Given the description of an element on the screen output the (x, y) to click on. 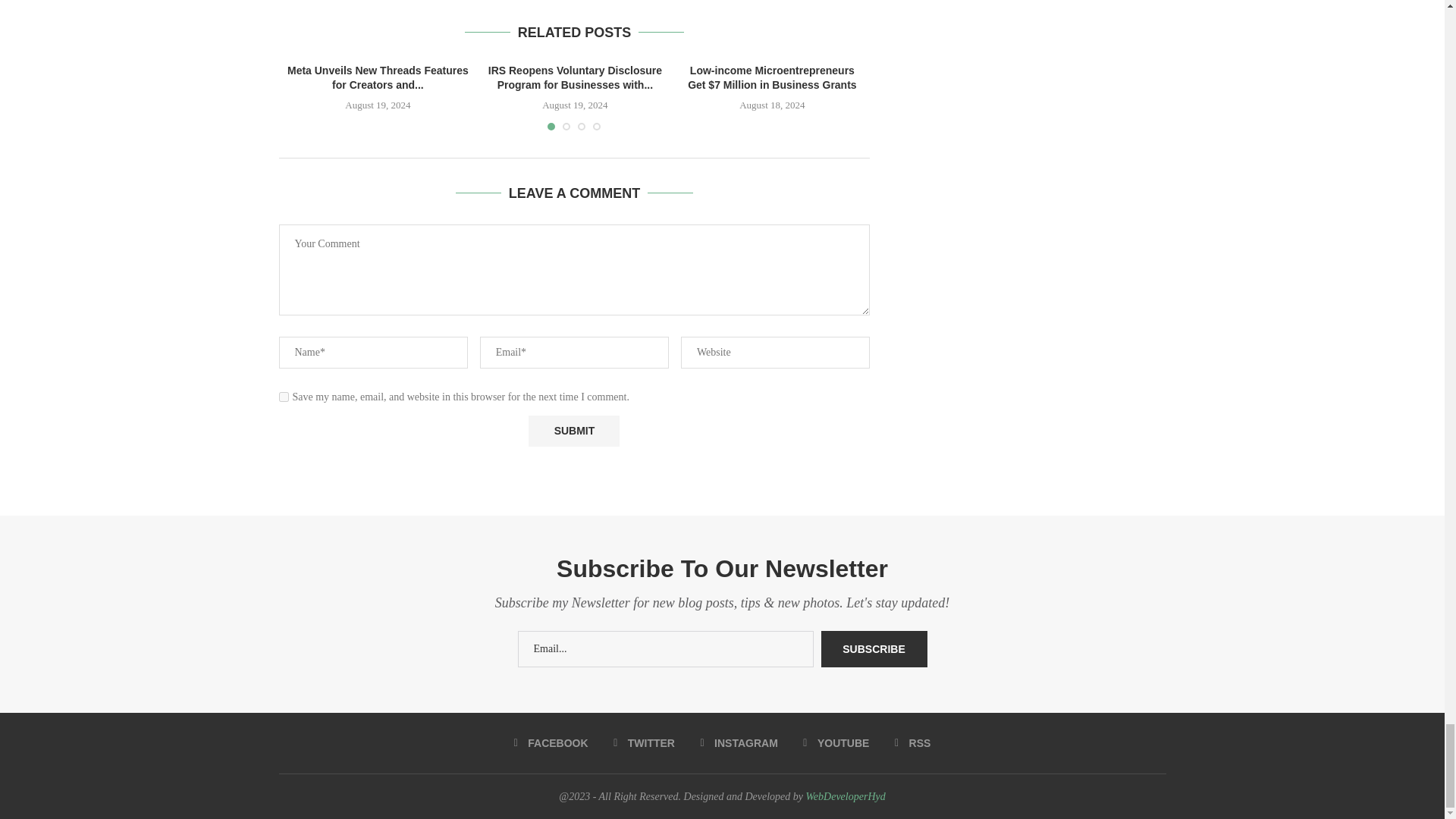
yes (283, 397)
Submit (574, 430)
Subscribe (873, 648)
